Given the description of an element on the screen output the (x, y) to click on. 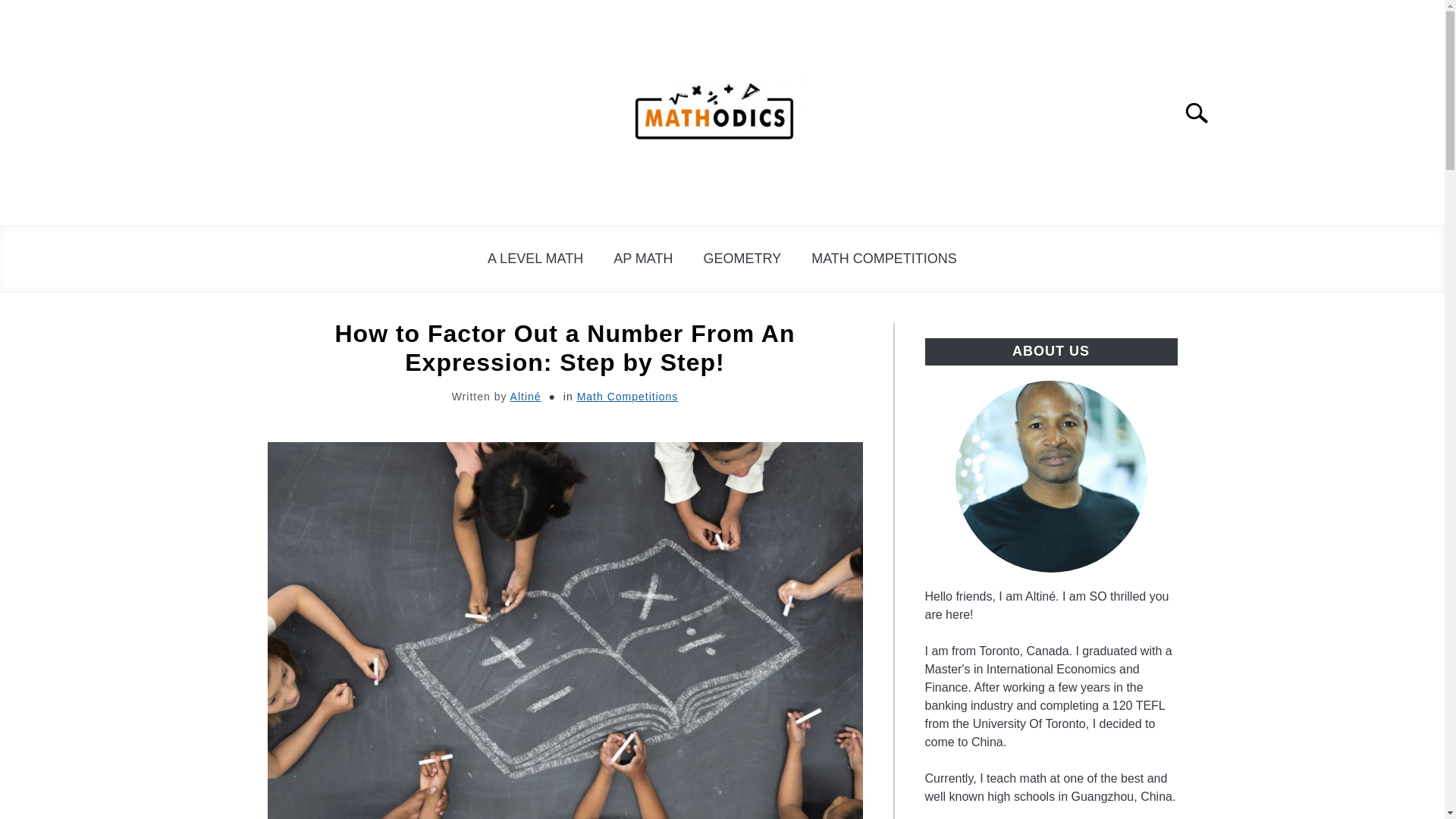
Search (1203, 112)
A LEVEL MATH (534, 258)
Math Competitions (627, 396)
GEOMETRY (742, 258)
AP MATH (642, 258)
MATH COMPETITIONS (884, 258)
